Given the description of an element on the screen output the (x, y) to click on. 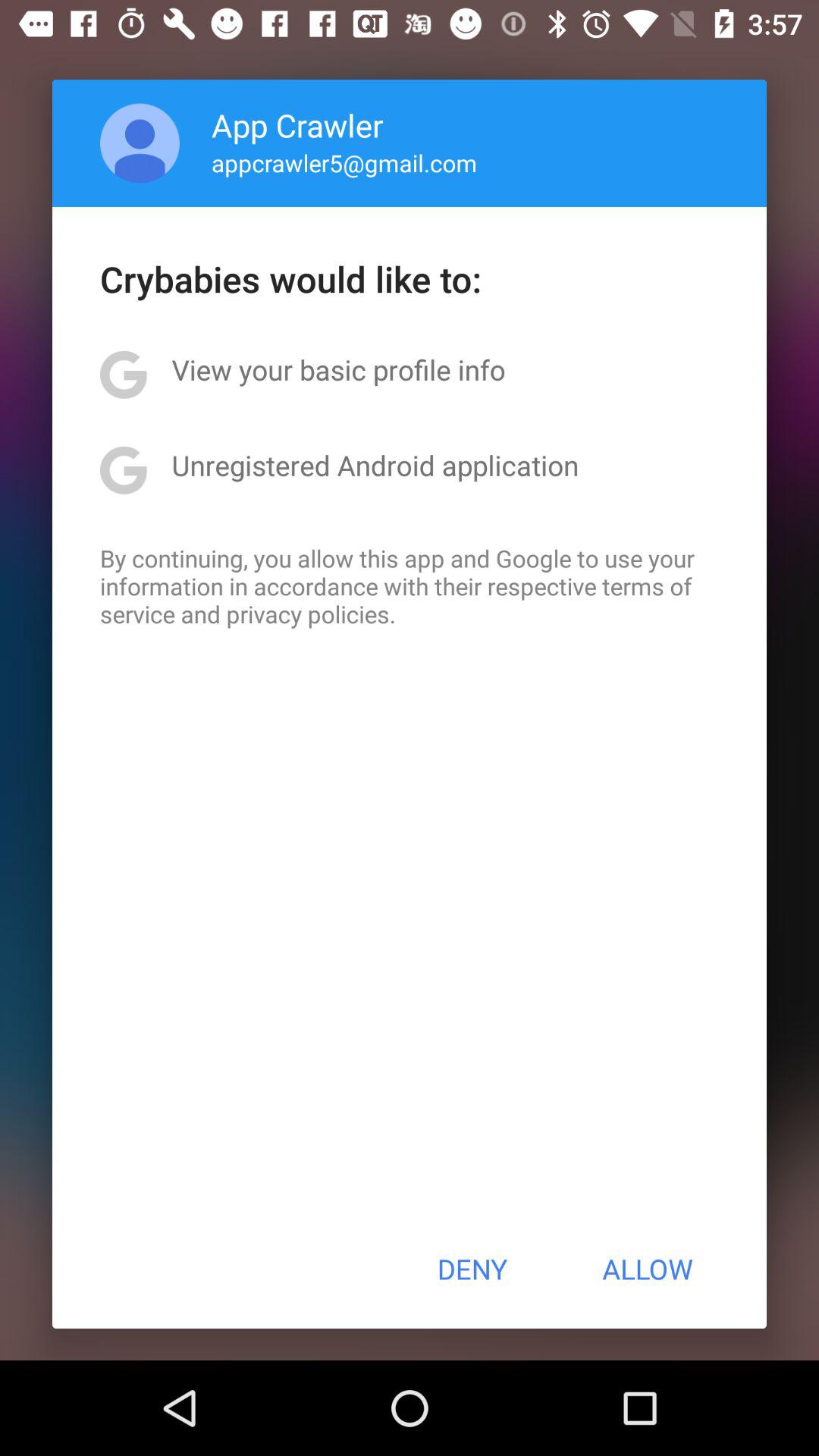
open icon next to the allow icon (471, 1268)
